Given the description of an element on the screen output the (x, y) to click on. 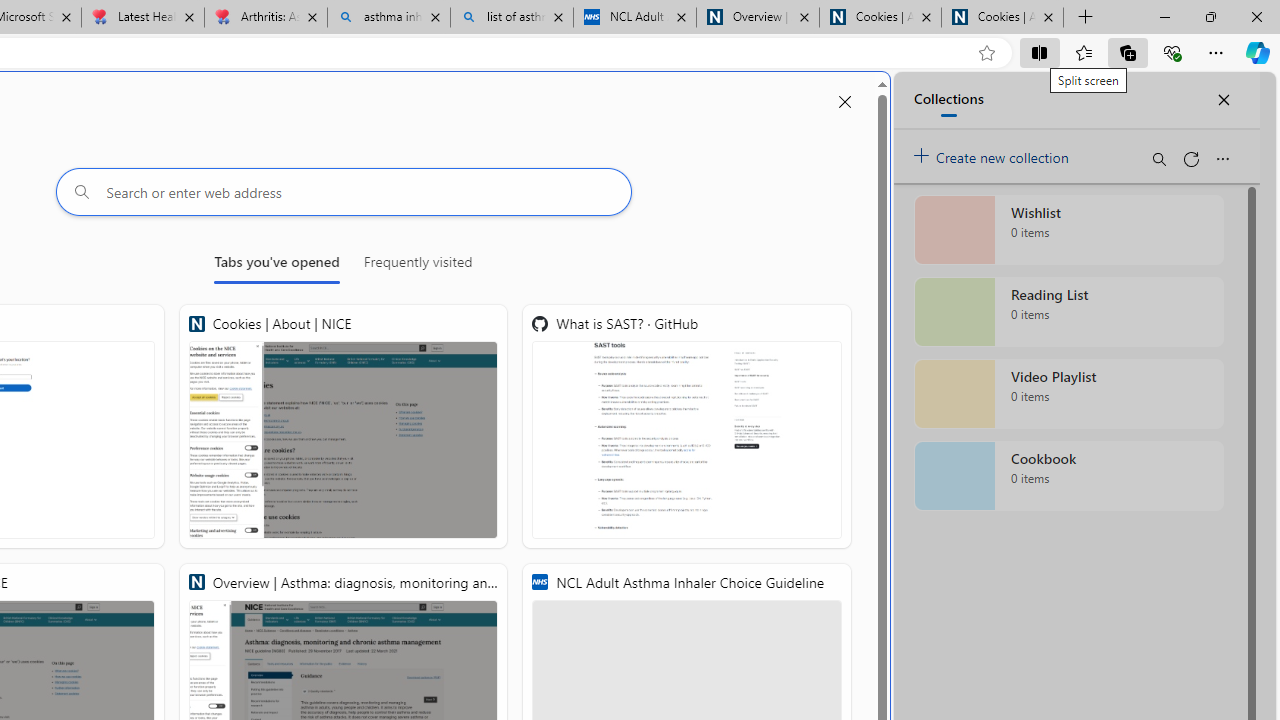
Search or enter web address (343, 191)
asthma inhaler - Search (388, 17)
Frequently visited (418, 265)
